Given the description of an element on the screen output the (x, y) to click on. 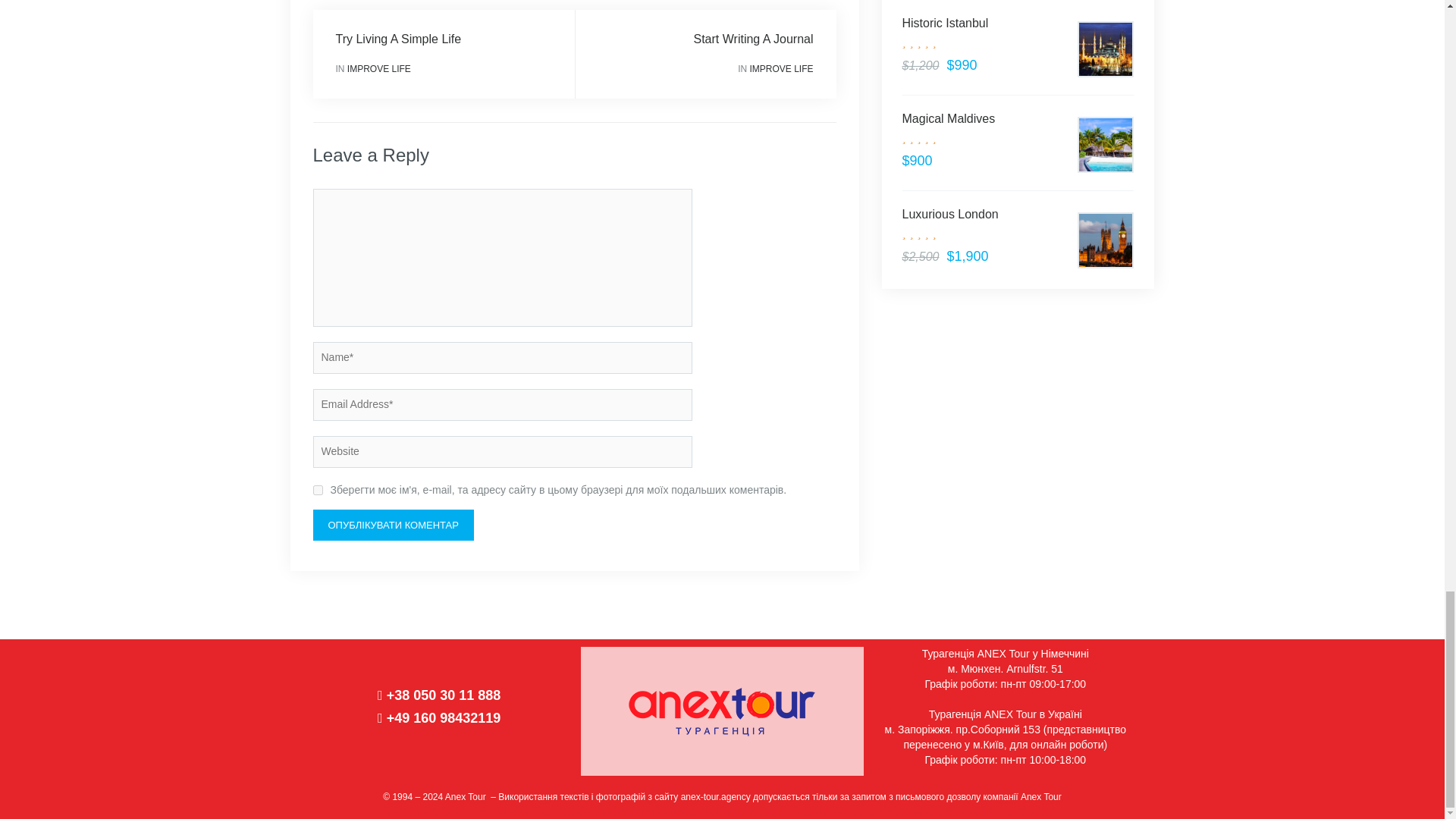
yes (317, 490)
